Given the description of an element on the screen output the (x, y) to click on. 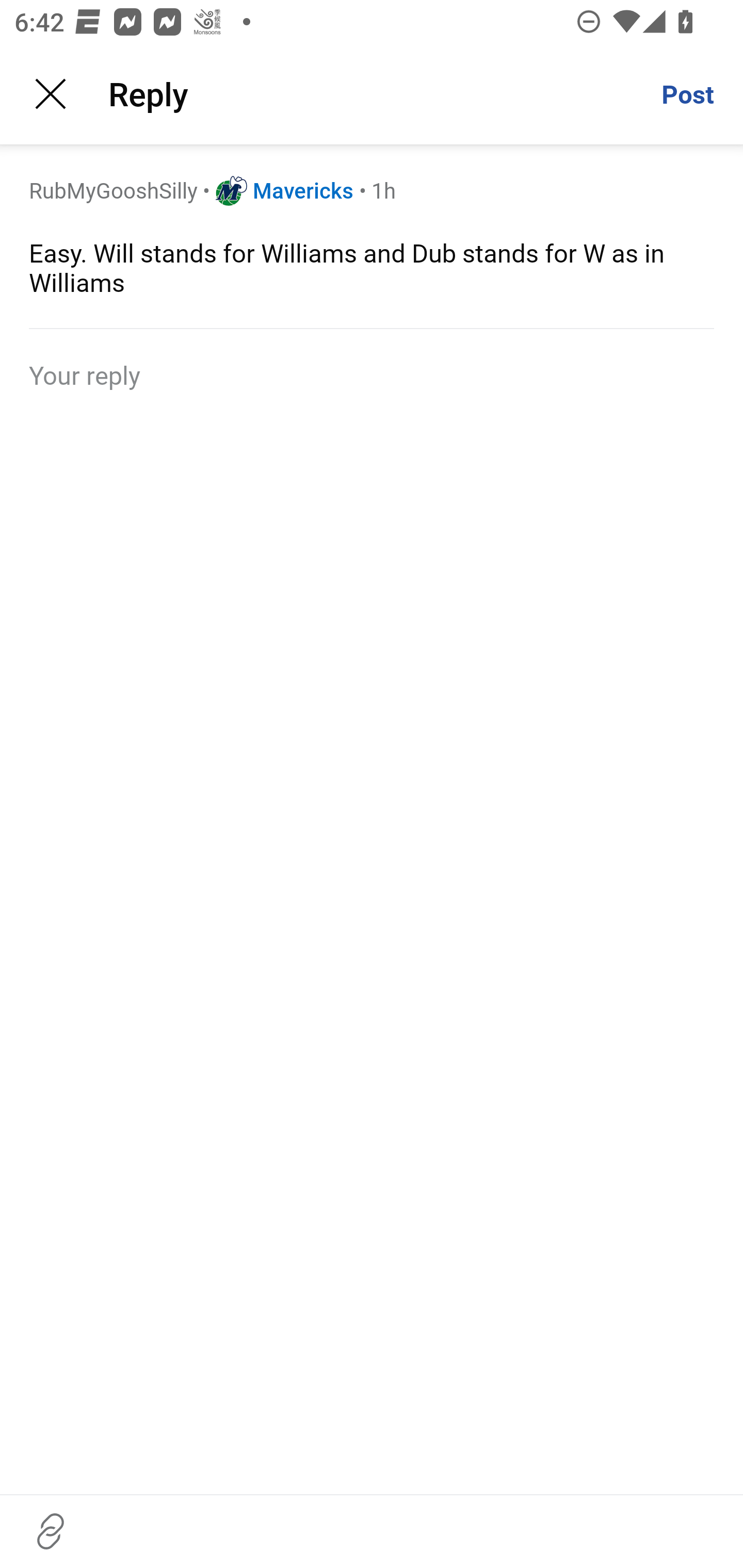
Close (50, 93)
Post (687, 94)
Your reply (371, 374)
Insert a link (50, 1530)
